Given the description of an element on the screen output the (x, y) to click on. 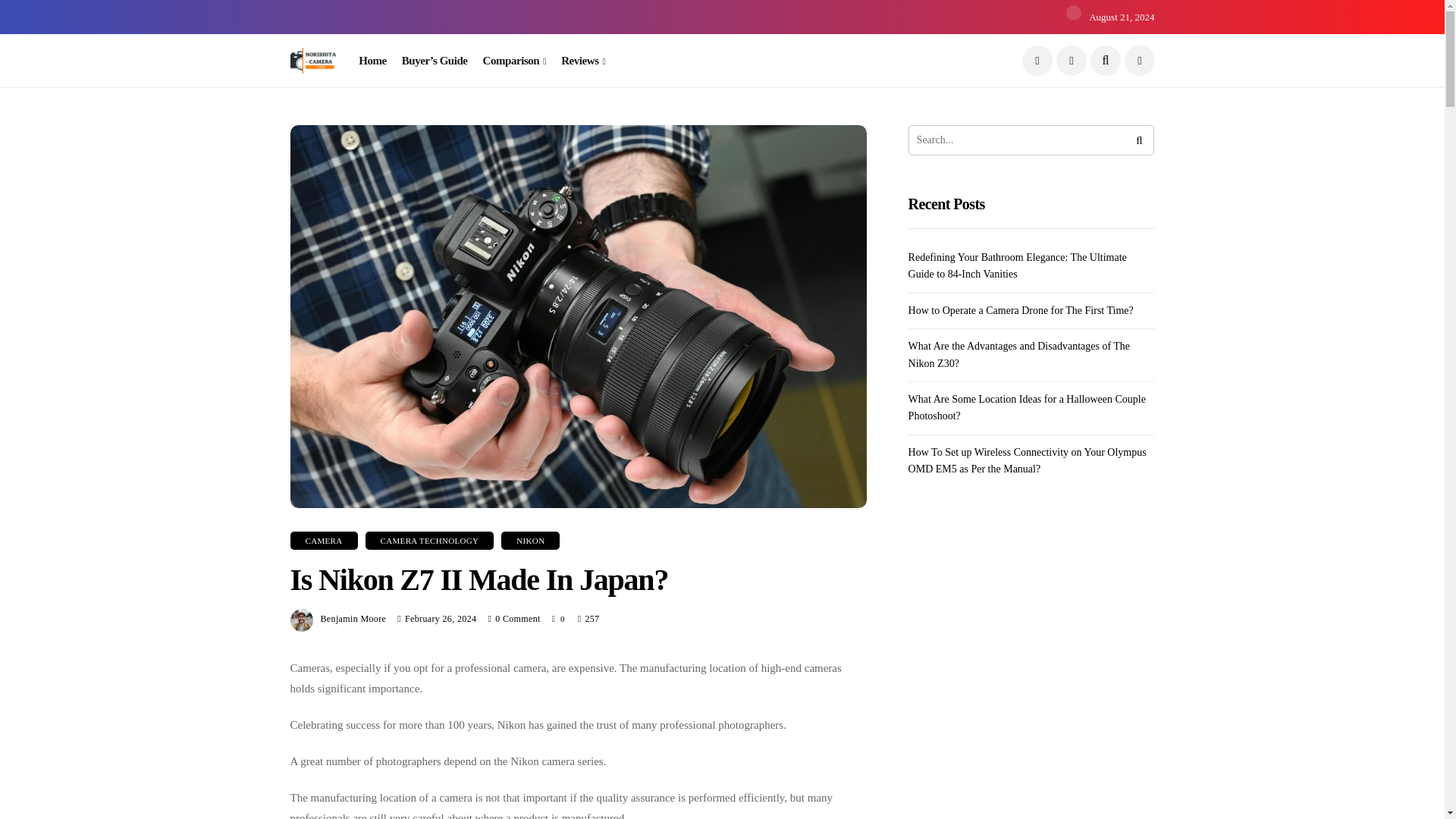
Comparison (515, 60)
Like (558, 618)
Posts by Benjamin Moore (352, 618)
